Given the description of an element on the screen output the (x, y) to click on. 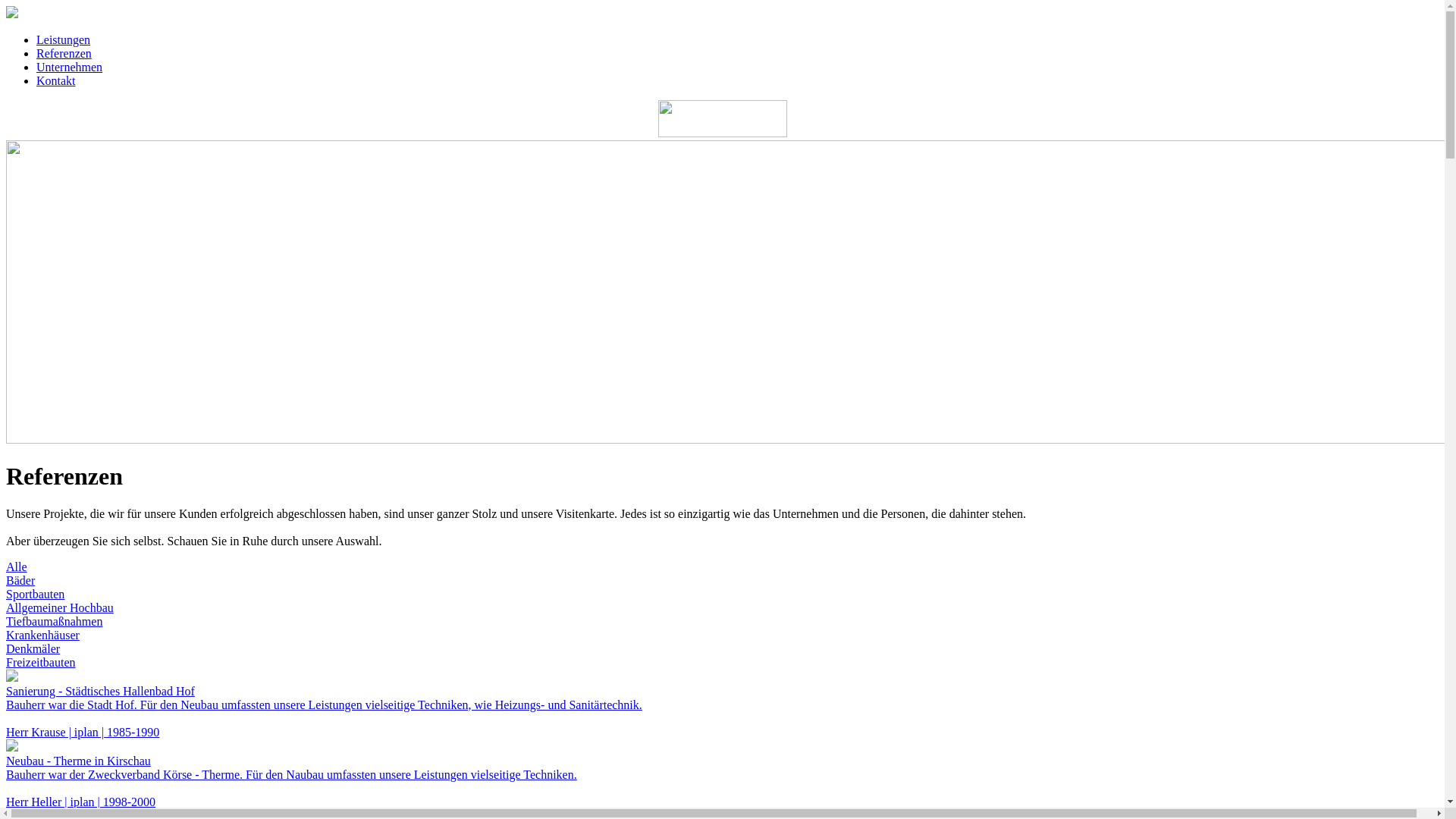
Referenzen Element type: text (63, 53)
Sportbauten Element type: text (35, 593)
Alle Element type: text (16, 566)
Neubau - Therme in Kirschau Element type: text (78, 760)
Unternehmen Element type: text (69, 66)
Freizeitbauten Element type: text (40, 661)
Leistungen Element type: text (63, 39)
Allgemeiner Hochbau Element type: text (59, 607)
Kontakt Element type: text (55, 80)
